Given the description of an element on the screen output the (x, y) to click on. 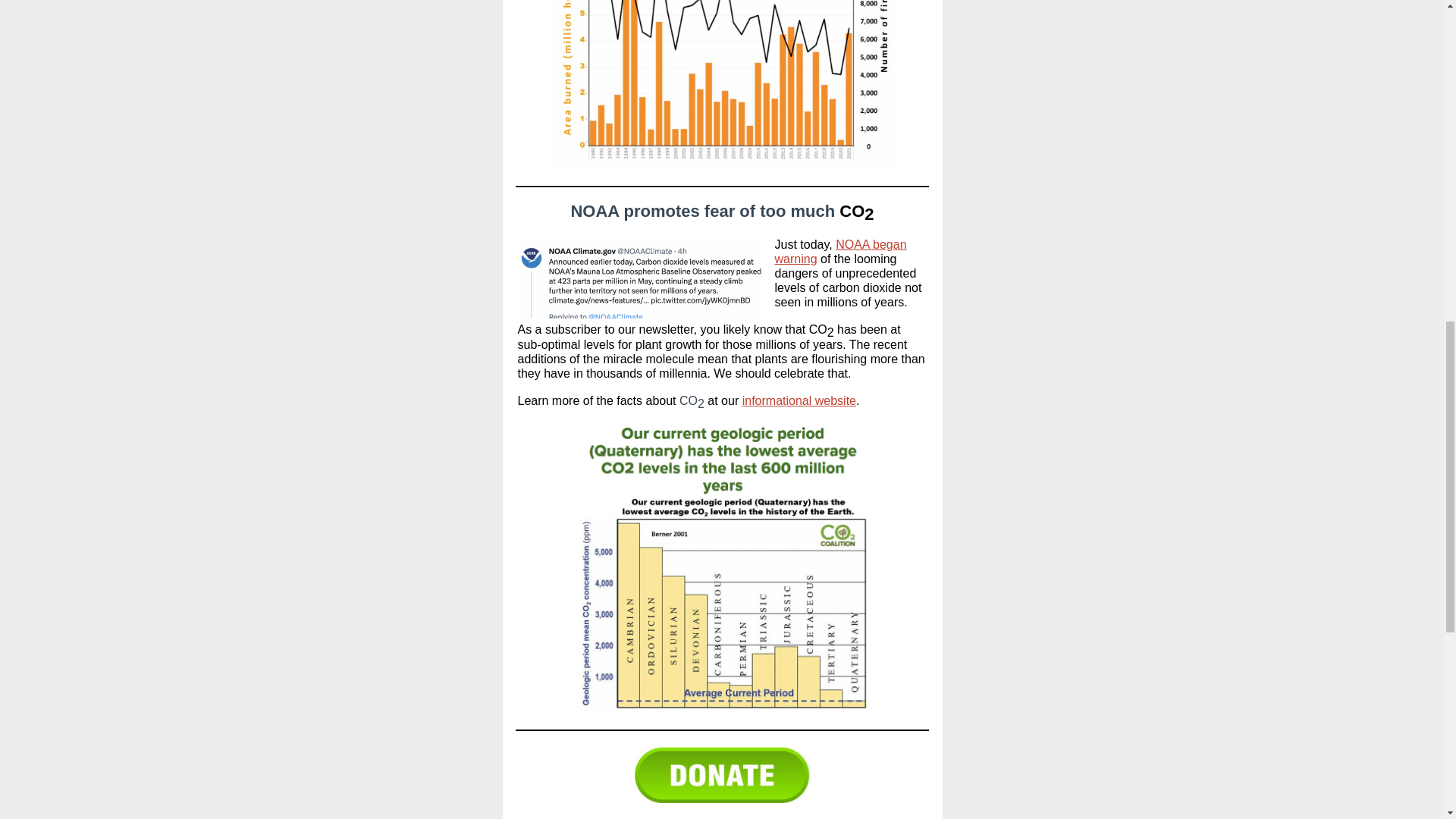
NOAA began warning (840, 251)
informational website (799, 400)
